Given the description of an element on the screen output the (x, y) to click on. 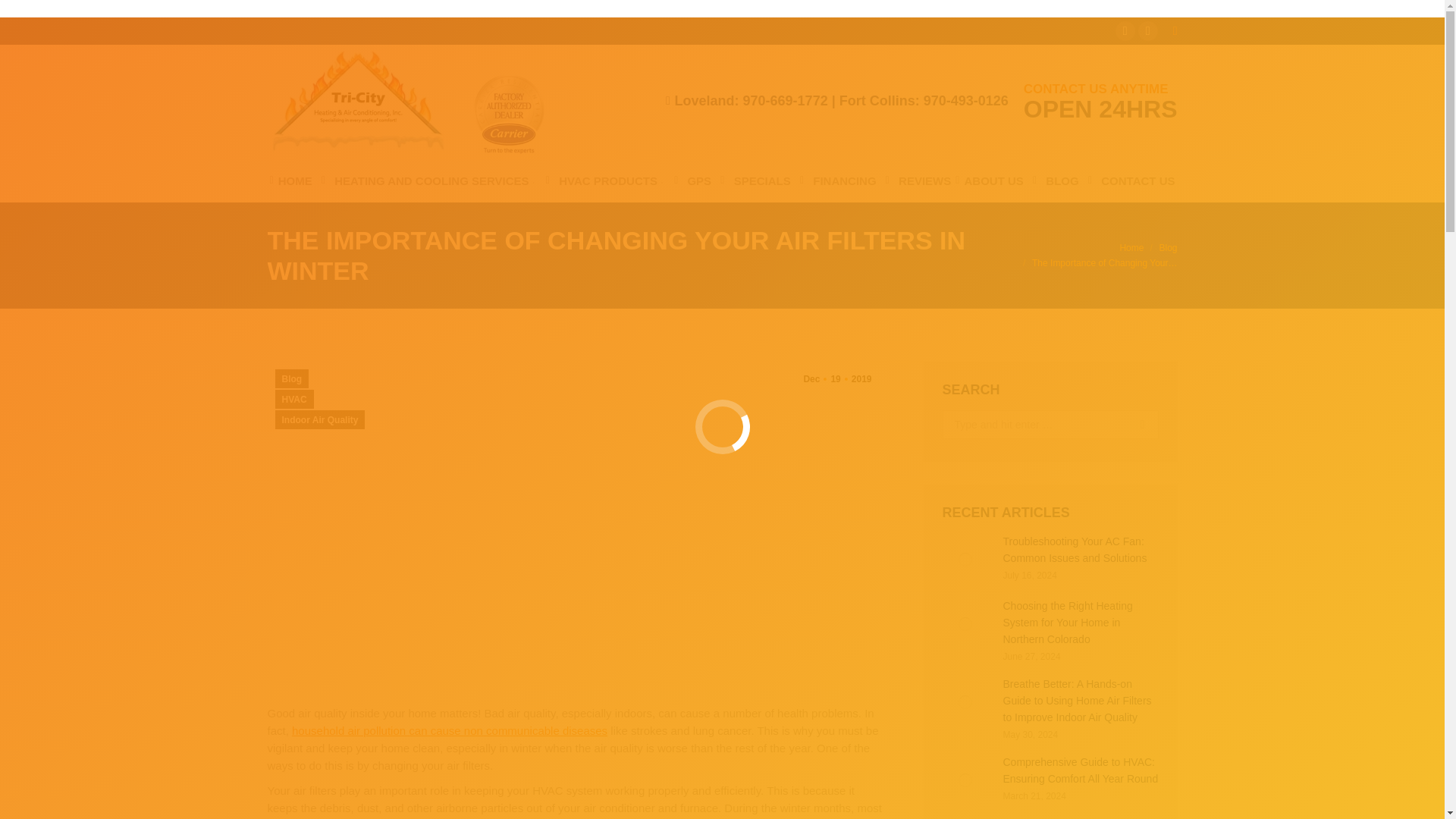
GPS (690, 180)
FINANCING (835, 180)
HOME (291, 180)
Facebook page opens in new window (1125, 30)
Twitter page opens in new window (1147, 30)
Go! (1135, 424)
HEATING AND COOLING SERVICES (427, 180)
REVIEWS (916, 180)
11:00 am (836, 378)
BLOG (1052, 180)
